Given the description of an element on the screen output the (x, y) to click on. 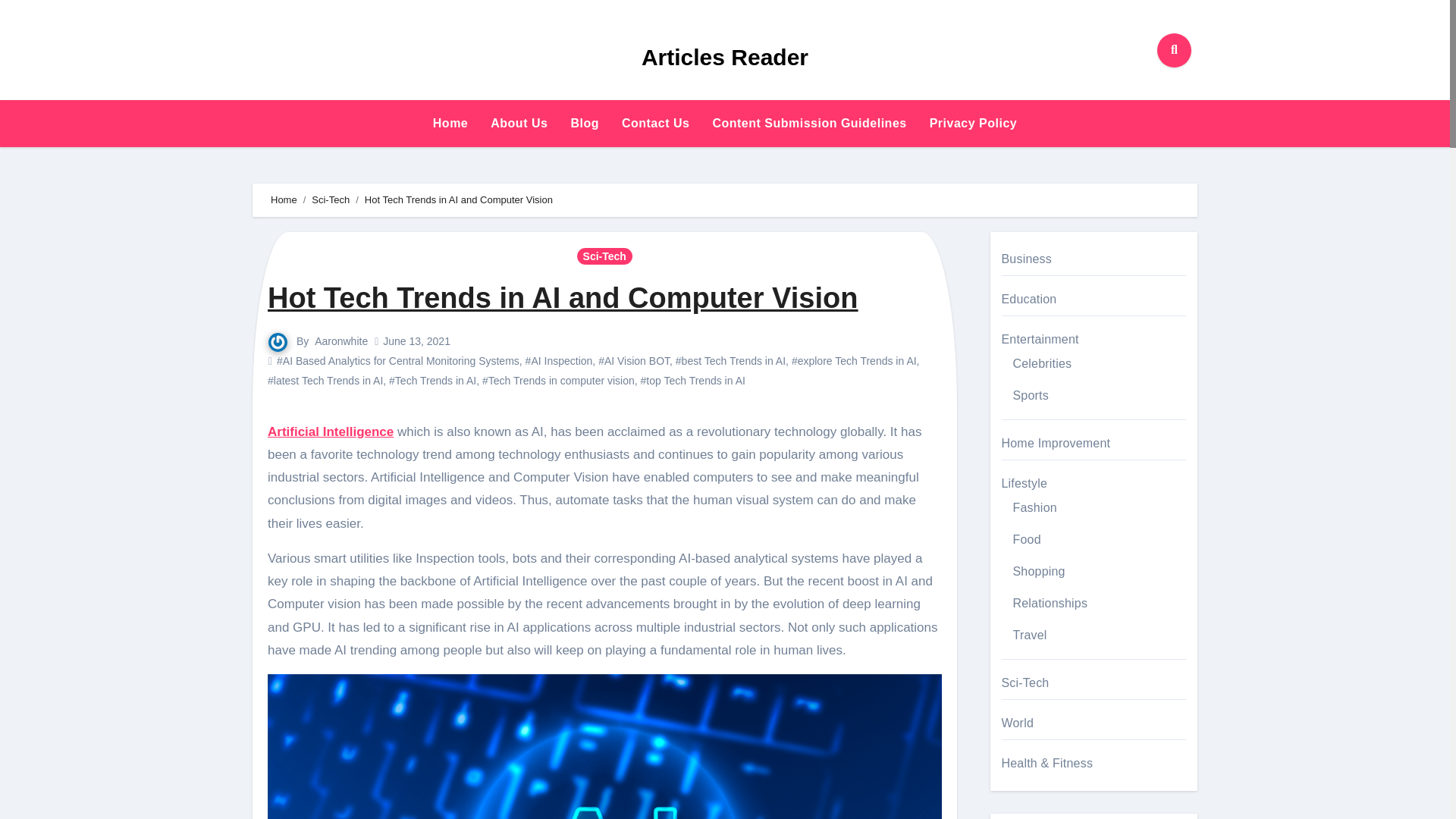
Home (450, 123)
Home (283, 199)
Hot Tech Trends in AI and Computer Vision (562, 297)
Artificial Intelligence (330, 431)
Home (450, 123)
Content Submission Guidelines (808, 123)
Sci-Tech (330, 199)
Articles Reader (725, 57)
Aaronwhite (341, 340)
Permalink to: Hot Tech Trends in AI and Computer Vision (562, 297)
Contact Us (655, 123)
About Us (519, 123)
June 13, 2021 (415, 340)
Sci-Tech (603, 256)
Blog (584, 123)
